Given the description of an element on the screen output the (x, y) to click on. 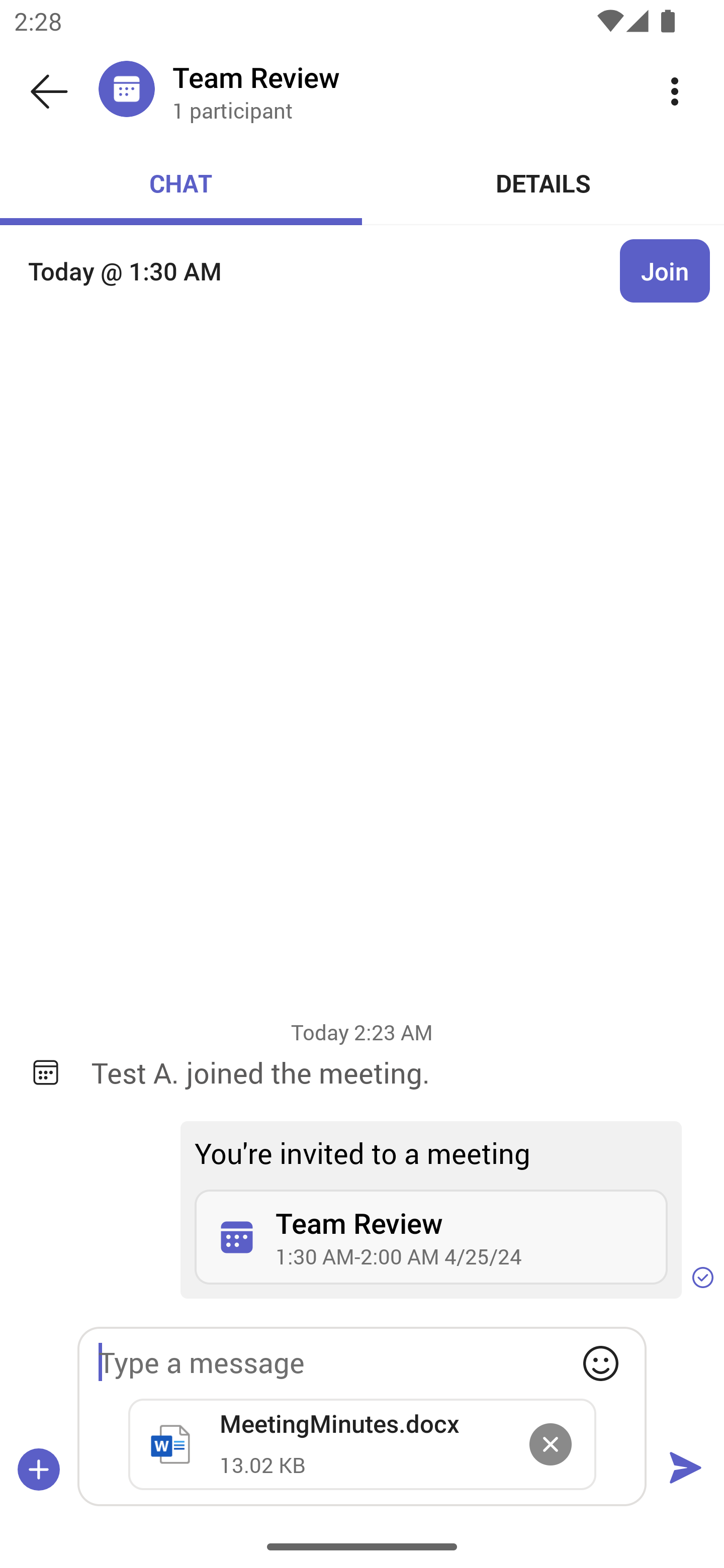
Back (49, 91)
More options (674, 90)
Team Review Team Review 1 participant (398, 90)
Details DETAILS (543, 183)
Join (664, 270)
Test A. joined the meeting. (393, 1072)
Type a message (361, 1362)
GIFs and emojis picker (600, 1363)
MeetingMinutes.docx 13.02 KB Remove attachment (362, 1443)
Remove attachment (549, 1444)
Compose options, expanded (38, 1469)
Send message (685, 1469)
